Given the description of an element on the screen output the (x, y) to click on. 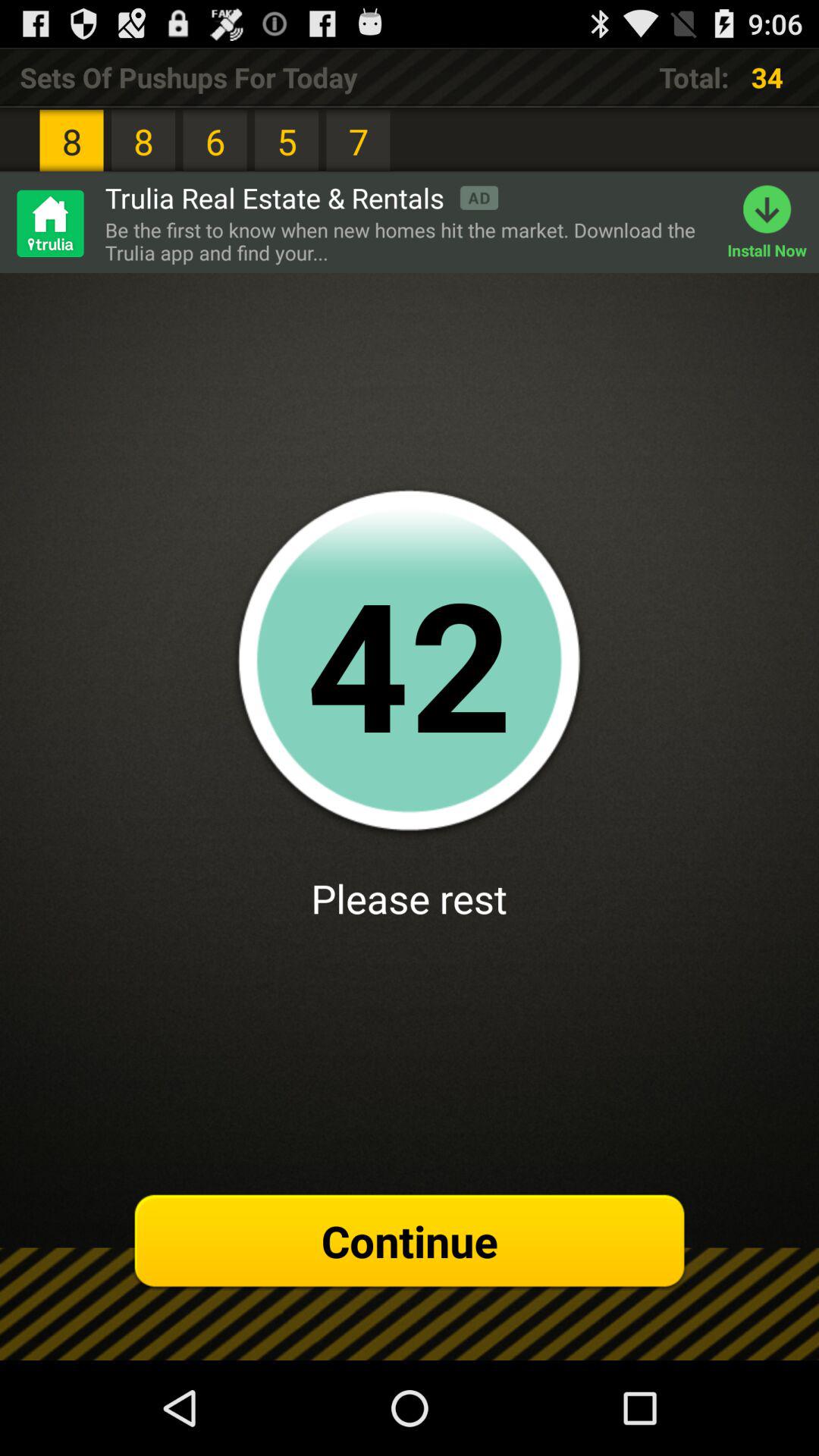
choose item above 41 item (408, 241)
